Given the description of an element on the screen output the (x, y) to click on. 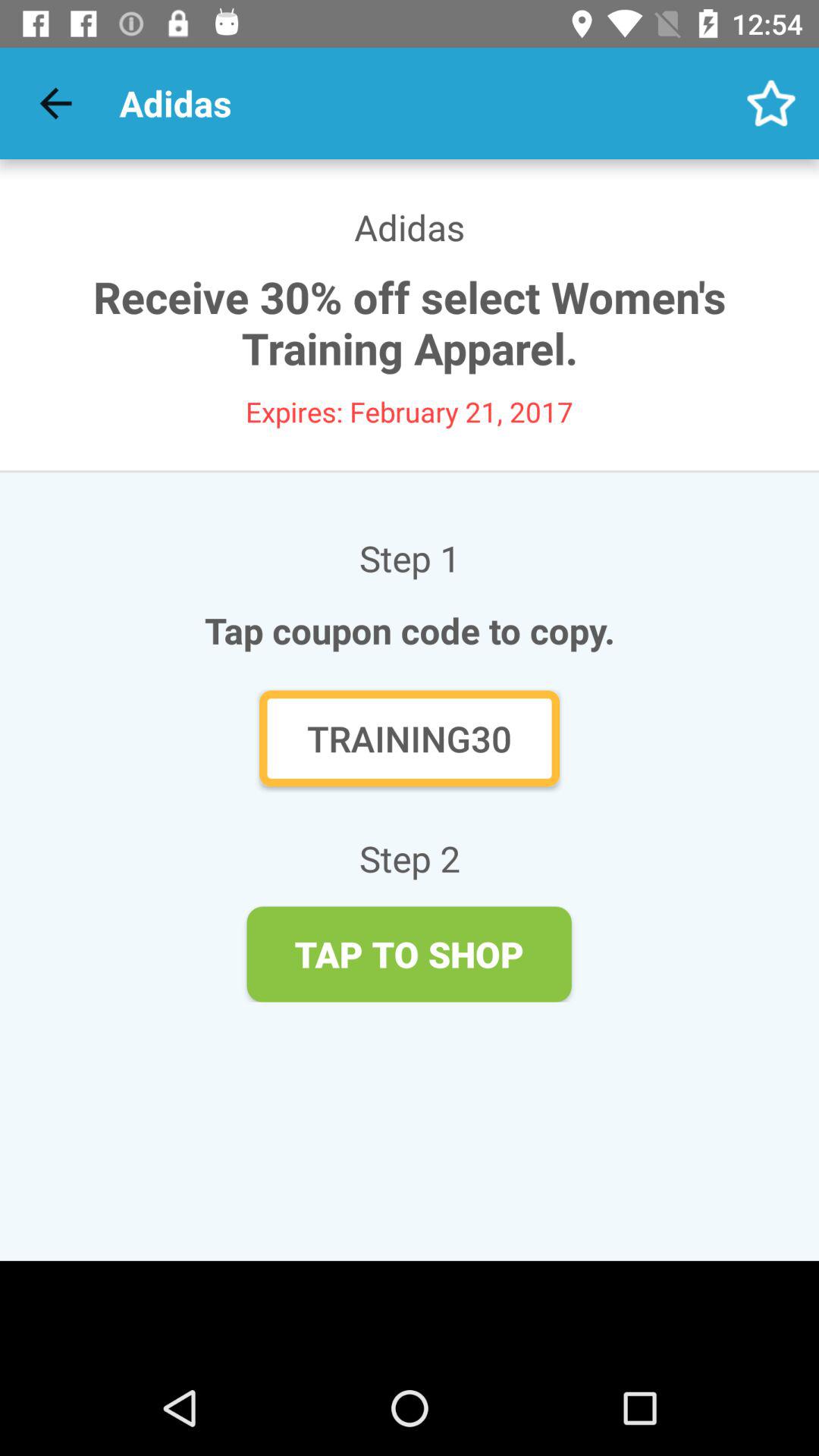
turn on icon to the left of adidas item (55, 103)
